Given the description of an element on the screen output the (x, y) to click on. 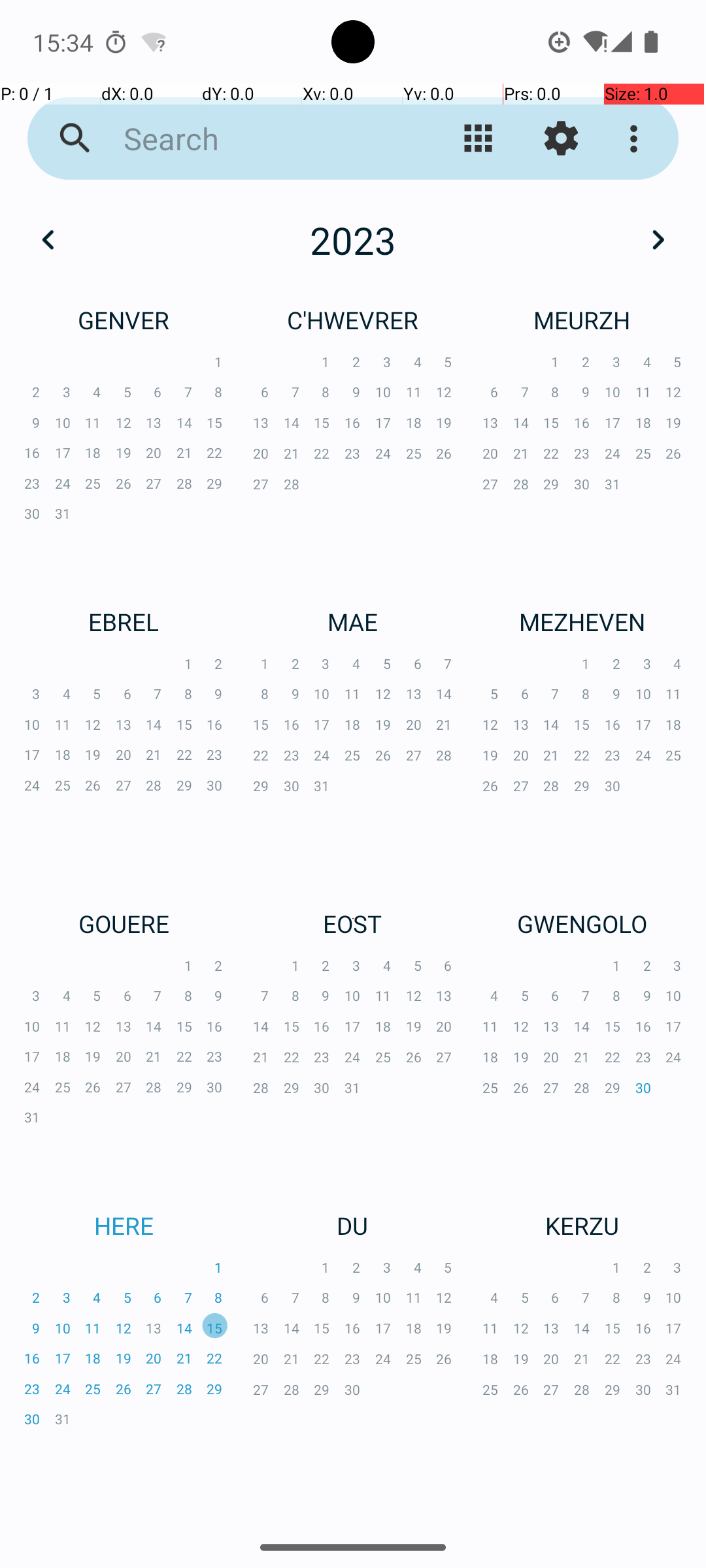
Kemmañ ar gwel Element type: android.widget.Button (477, 138)
GENVER Element type: android.widget.TextView (123, 319)
C'HWEVRER Element type: android.widget.TextView (352, 319)
MEURZH Element type: android.widget.TextView (582, 319)
EBREL Element type: android.widget.TextView (123, 621)
MAE Element type: android.widget.TextView (352, 621)
MEZHEVEN Element type: android.widget.TextView (582, 621)
GOUERE Element type: android.widget.TextView (123, 923)
EOST Element type: android.widget.TextView (352, 923)
GWENGOLO Element type: android.widget.TextView (582, 923)
HERE Element type: android.widget.TextView (123, 1224)
DU Element type: android.widget.TextView (352, 1224)
KERZU Element type: android.widget.TextView (582, 1224)
